Given the description of an element on the screen output the (x, y) to click on. 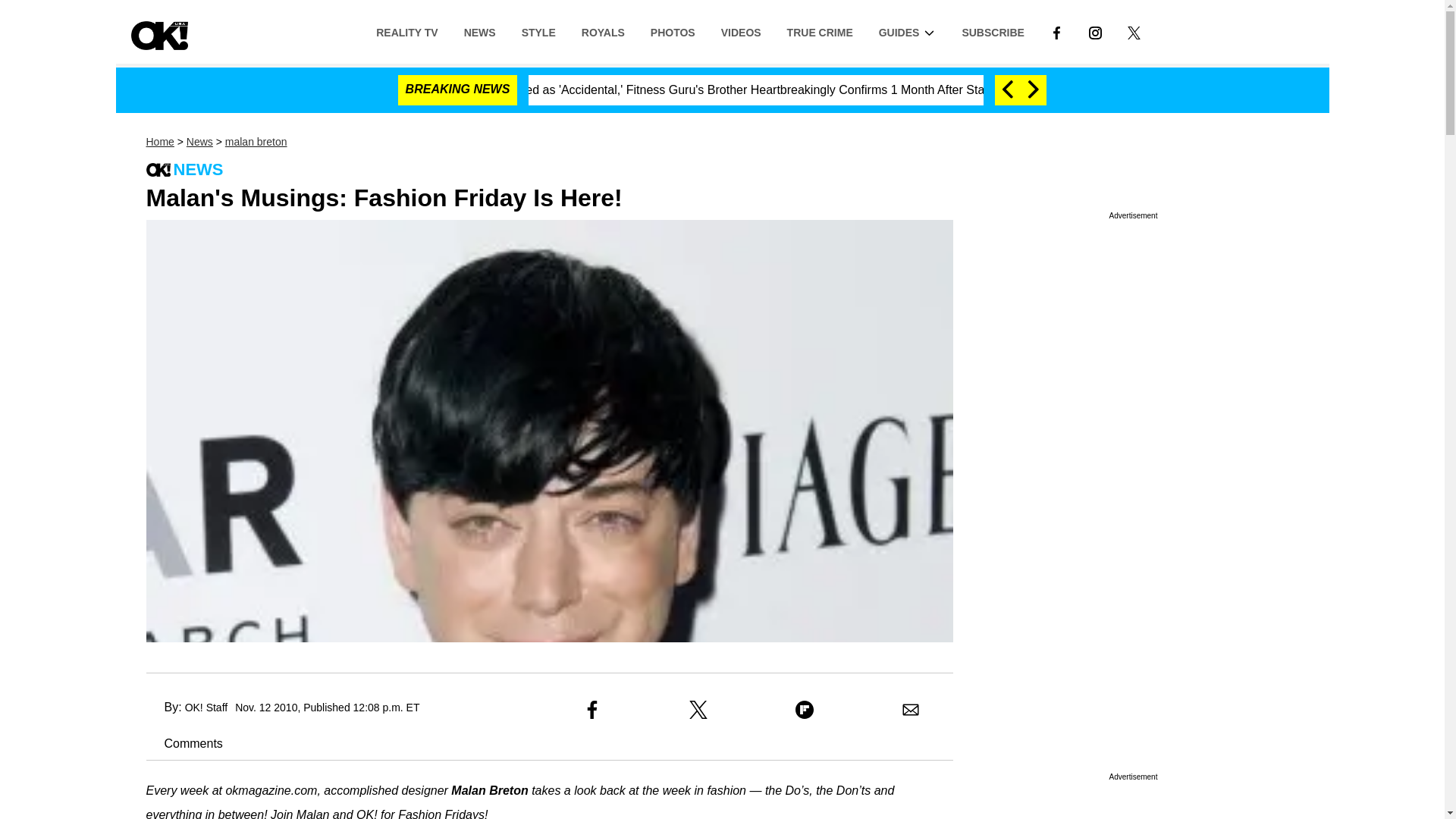
malan breton (255, 141)
LINK TO FACEBOOK (1055, 31)
OK! Staff (206, 707)
LINK TO INSTAGRAM (1095, 31)
Share to Email (909, 710)
LINK TO INSTAGRAM (1095, 32)
VIDEOS (740, 31)
TRUE CRIME (820, 31)
REALITY TV (405, 31)
News (199, 141)
